Given the description of an element on the screen output the (x, y) to click on. 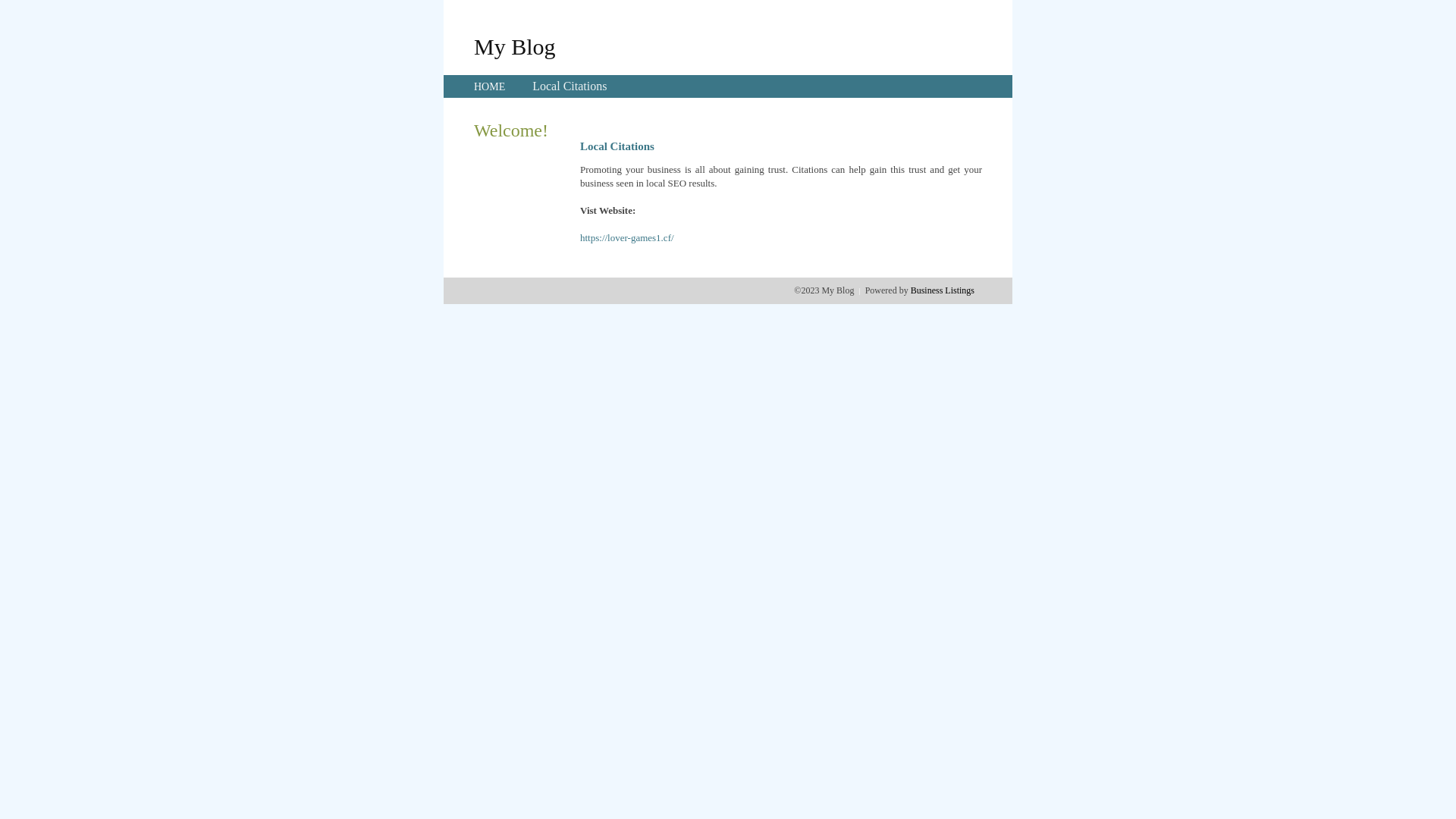
HOME Element type: text (489, 86)
Local Citations Element type: text (569, 85)
https://lover-games1.cf/ Element type: text (627, 237)
My Blog Element type: text (514, 46)
Business Listings Element type: text (942, 290)
